Given the description of an element on the screen output the (x, y) to click on. 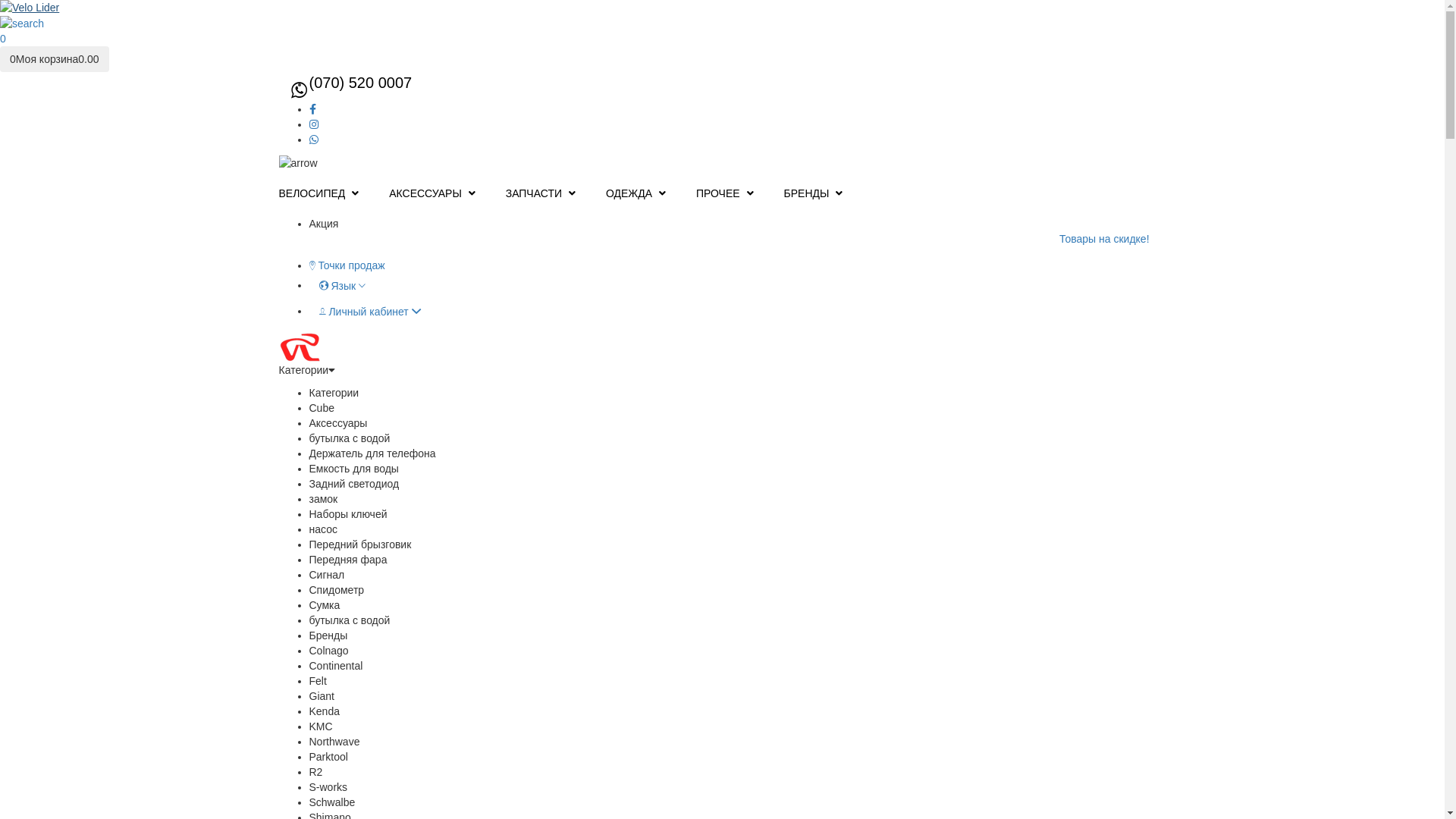
Velo Lider Element type: hover (722, 7)
0 Element type: text (3, 38)
(070) 520 0007 Element type: text (379, 83)
Show/Hide Element type: text (298, 162)
Velo Lider Element type: hover (368, 347)
